Given the description of an element on the screen output the (x, y) to click on. 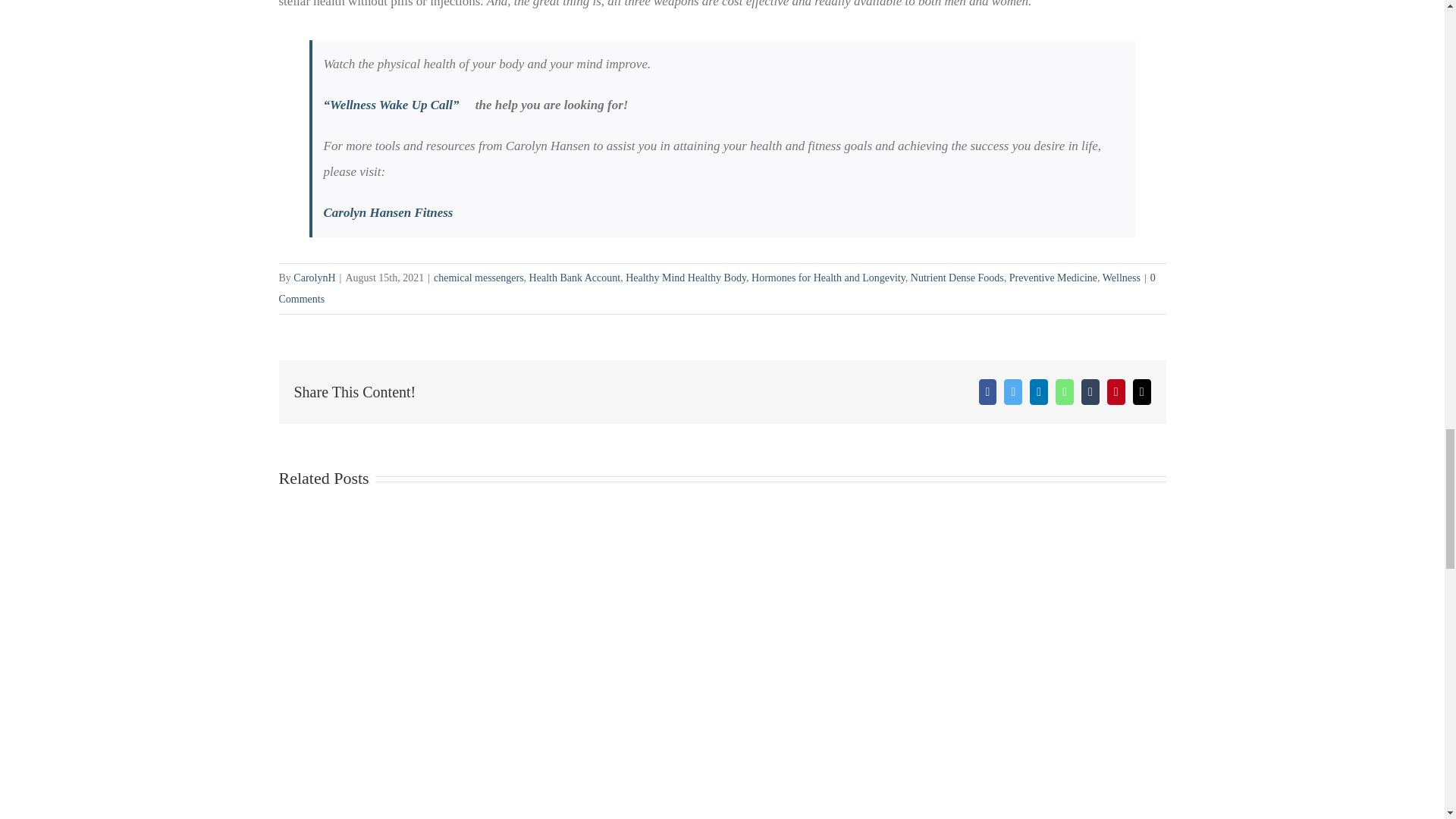
Health Bank Account (575, 277)
Healthy Mind Healthy Body (685, 277)
Posts by CarolynH (314, 277)
Hormones for Health and Longevity (828, 277)
chemical messengers (478, 277)
0 Comments (717, 287)
CarolynH (314, 277)
Carolyn Hansen Fitness (387, 212)
Nutrient Dense Foods (957, 277)
Preventive Medicine (1053, 277)
Wellness (1121, 277)
